Given the description of an element on the screen output the (x, y) to click on. 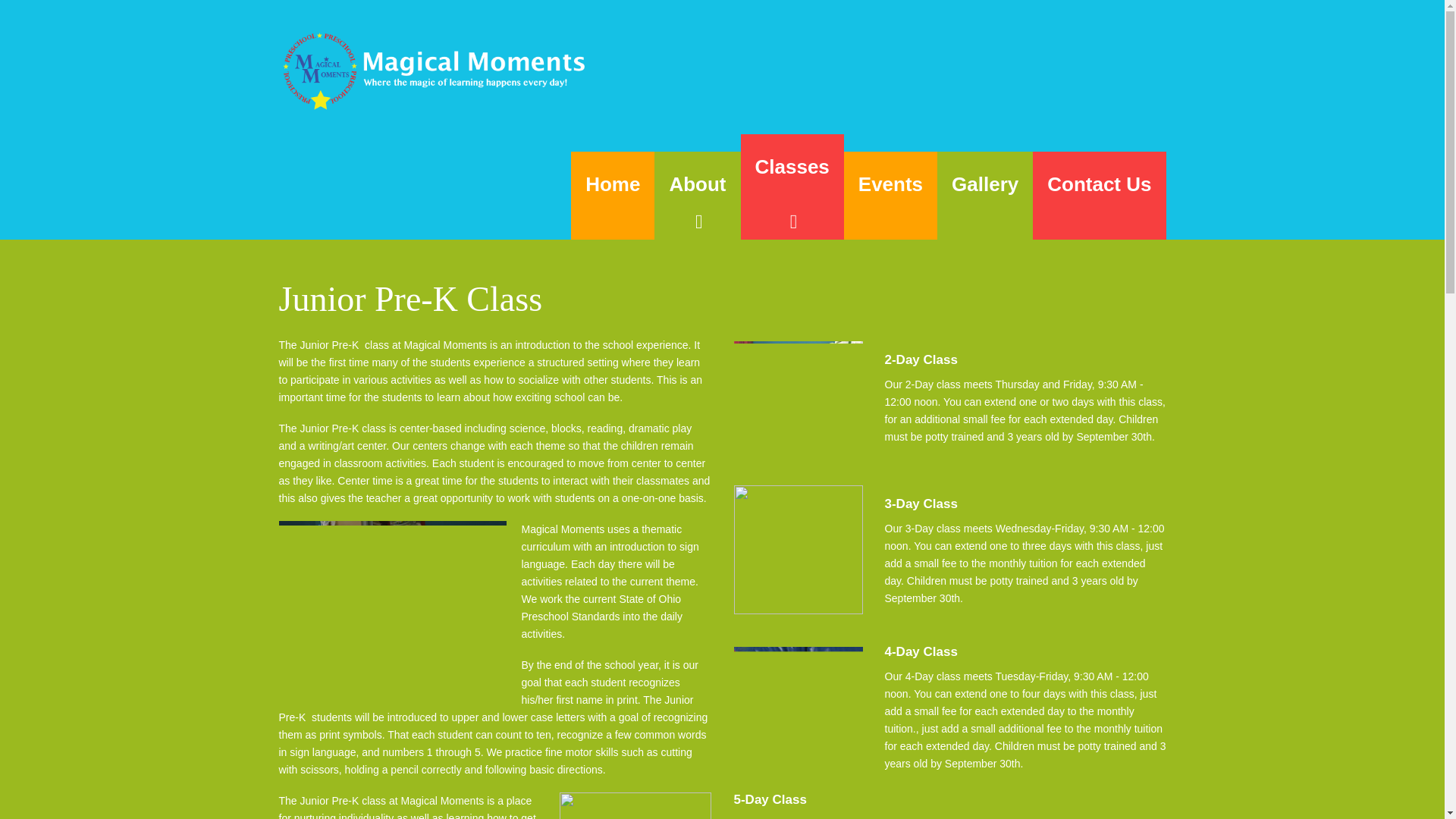
Classes (791, 186)
Gallery (984, 195)
About (696, 195)
Classes (791, 186)
Gallery (984, 195)
Events (890, 195)
Contact Us (1099, 195)
Events (890, 195)
Home (611, 195)
About (696, 195)
Contact Us (1099, 195)
Home (611, 195)
